Given the description of an element on the screen output the (x, y) to click on. 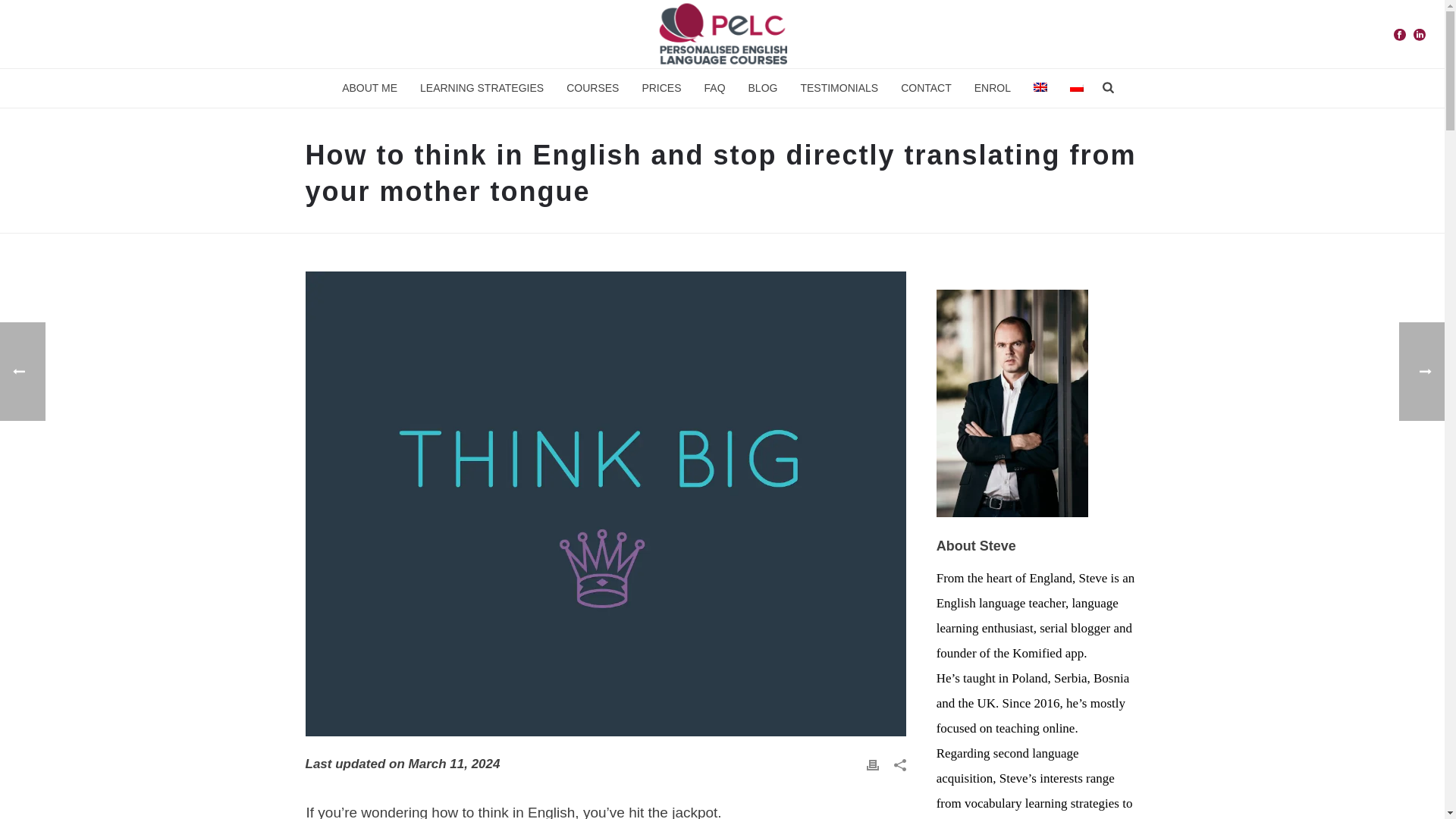
TESTIMONIALS (839, 87)
PRICES (661, 87)
ABOUT ME (369, 87)
BLOG (762, 87)
FAQ (714, 87)
CONTACT (925, 87)
COURSES (592, 87)
COURSES (592, 87)
English Coach Online (721, 33)
